Given the description of an element on the screen output the (x, y) to click on. 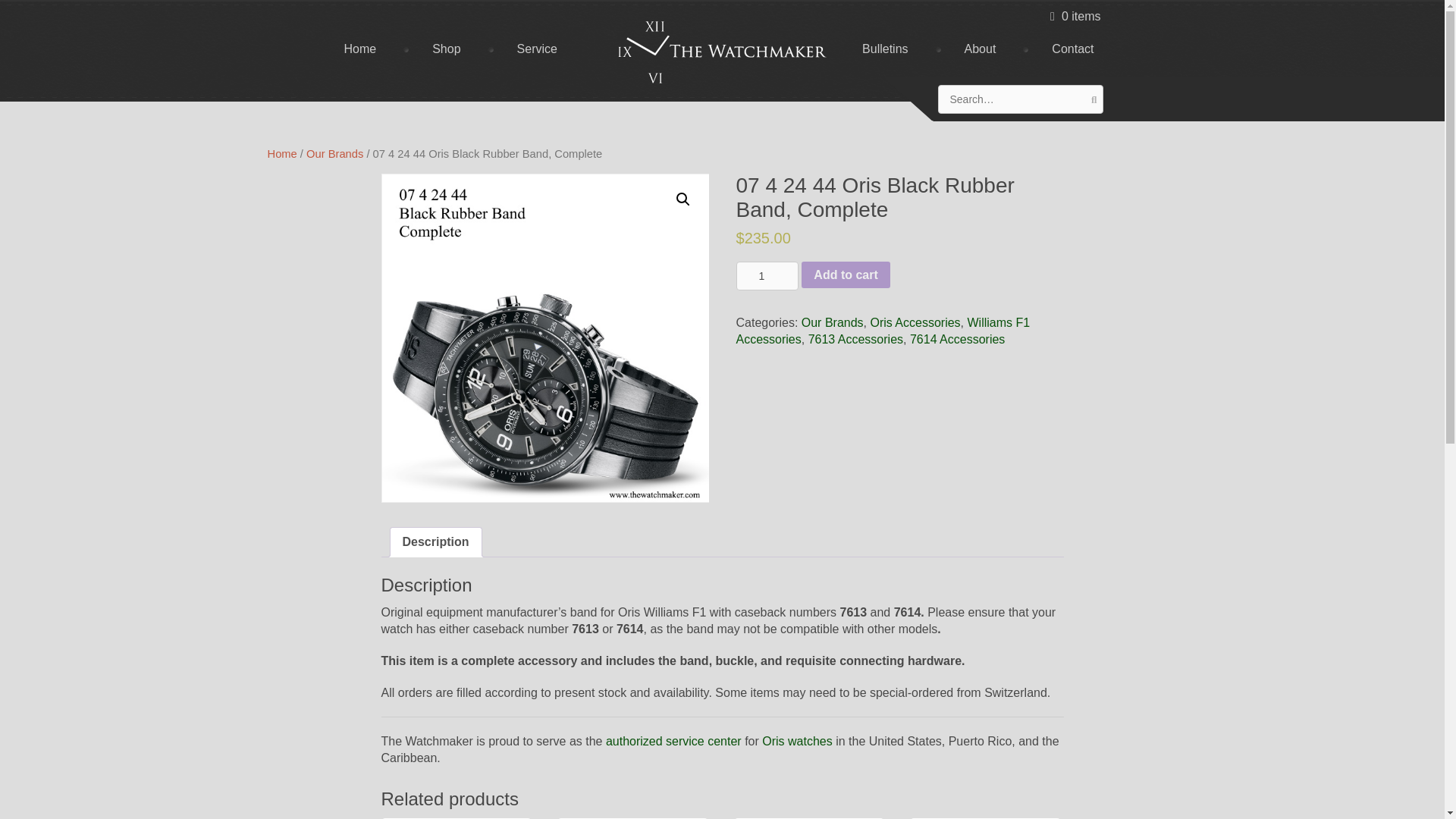
1 (766, 275)
CP (545, 337)
Home (359, 49)
Qty (766, 275)
Start shopping (1075, 16)
Shop (446, 49)
Back to Triple S Members Website Homepage (722, 52)
